Given the description of an element on the screen output the (x, y) to click on. 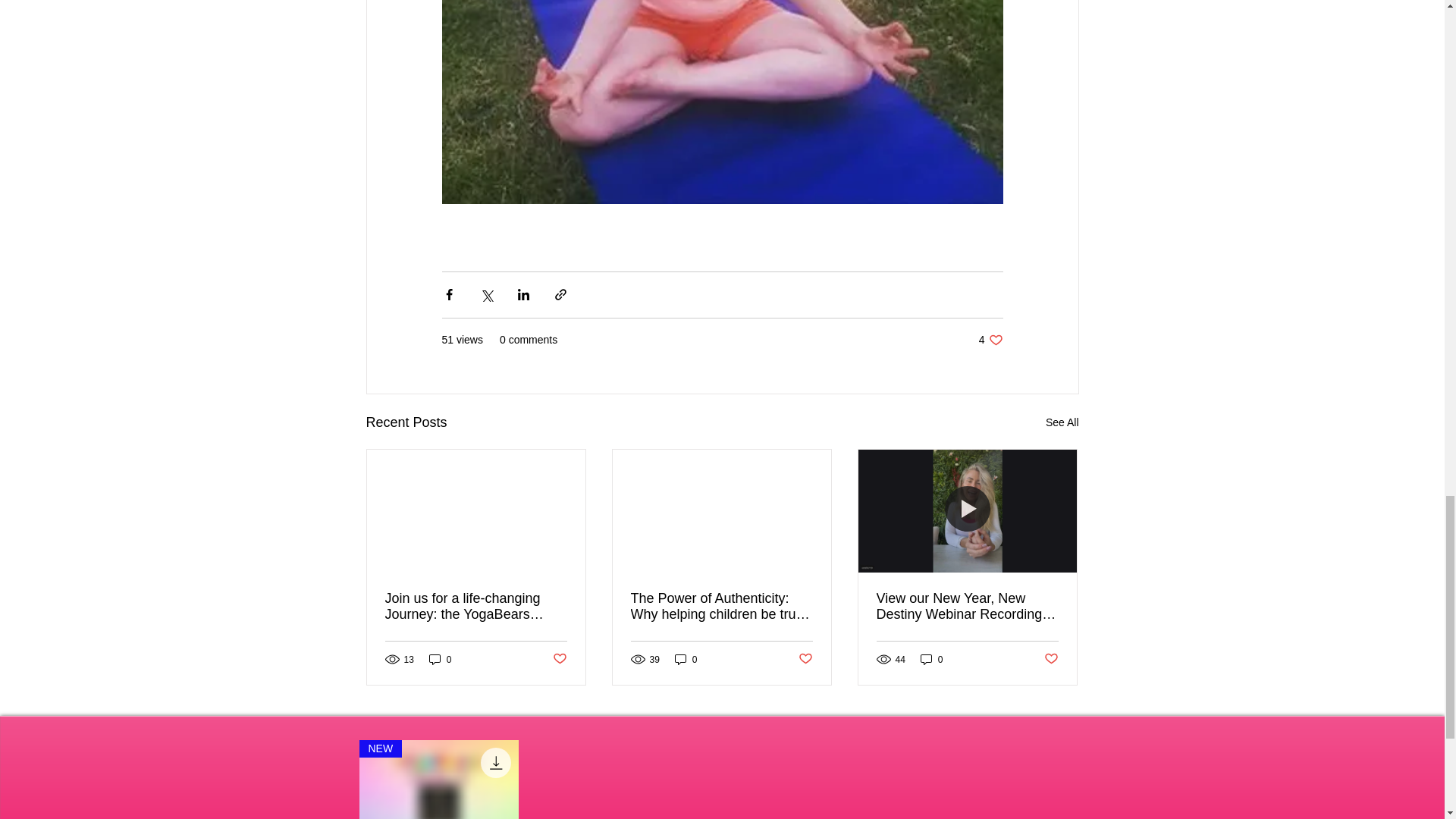
Post not marked as liked (804, 659)
0 (685, 658)
0 (440, 658)
Post not marked as liked (558, 659)
See All (990, 339)
